Given the description of an element on the screen output the (x, y) to click on. 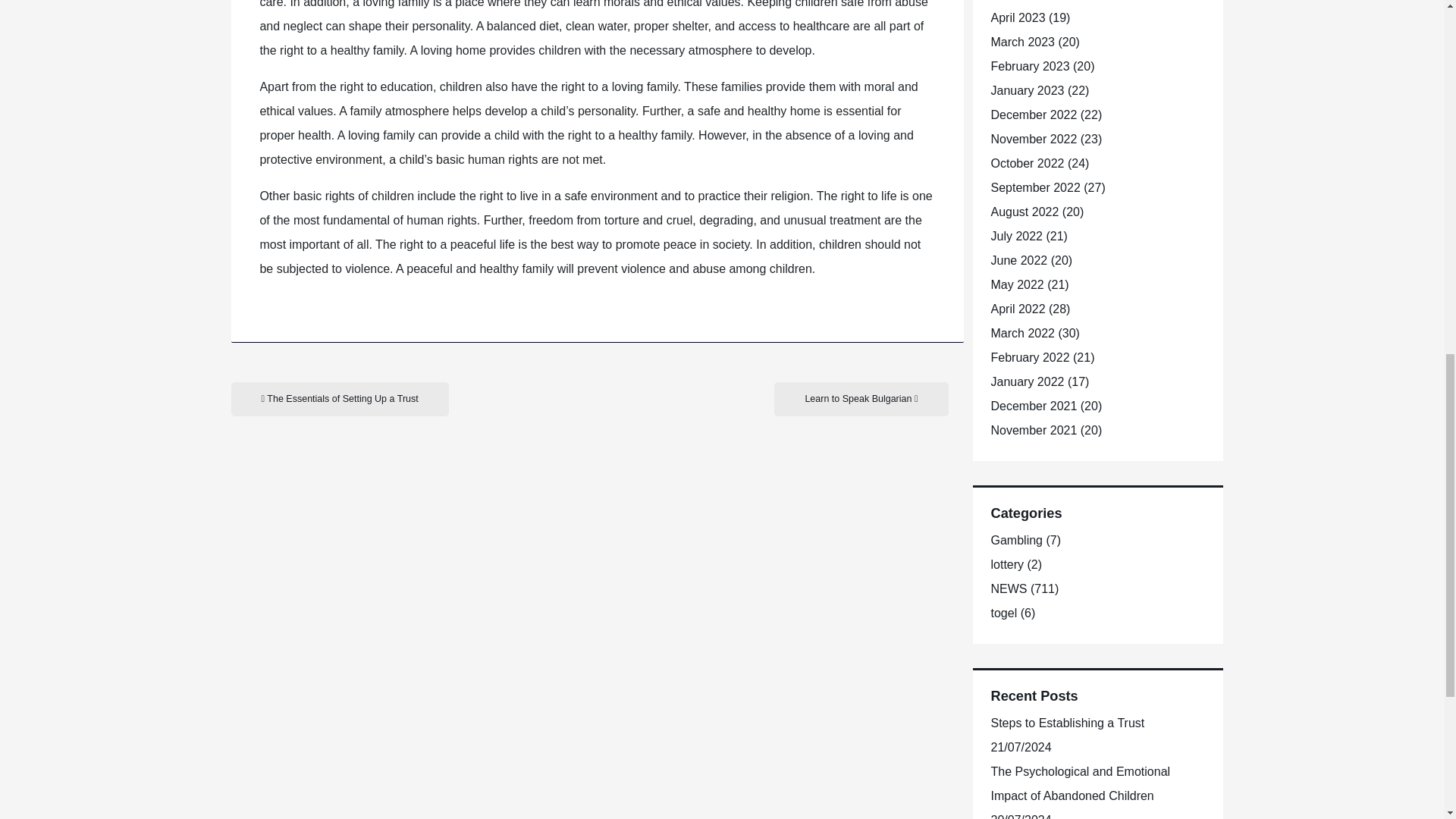
October 2022 (1027, 163)
June 2022 (1018, 259)
April 2022 (1017, 308)
July 2022 (1016, 236)
December 2022 (1033, 114)
September 2022 (1035, 187)
May 2022 (1016, 284)
January 2023 (1027, 90)
March 2022 (1022, 332)
Learn to Speak Bulgarian (860, 399)
August 2022 (1024, 211)
March 2023 (1022, 42)
April 2023 (1017, 17)
The Essentials of Setting Up a Trust (339, 399)
November 2022 (1033, 138)
